Given the description of an element on the screen output the (x, y) to click on. 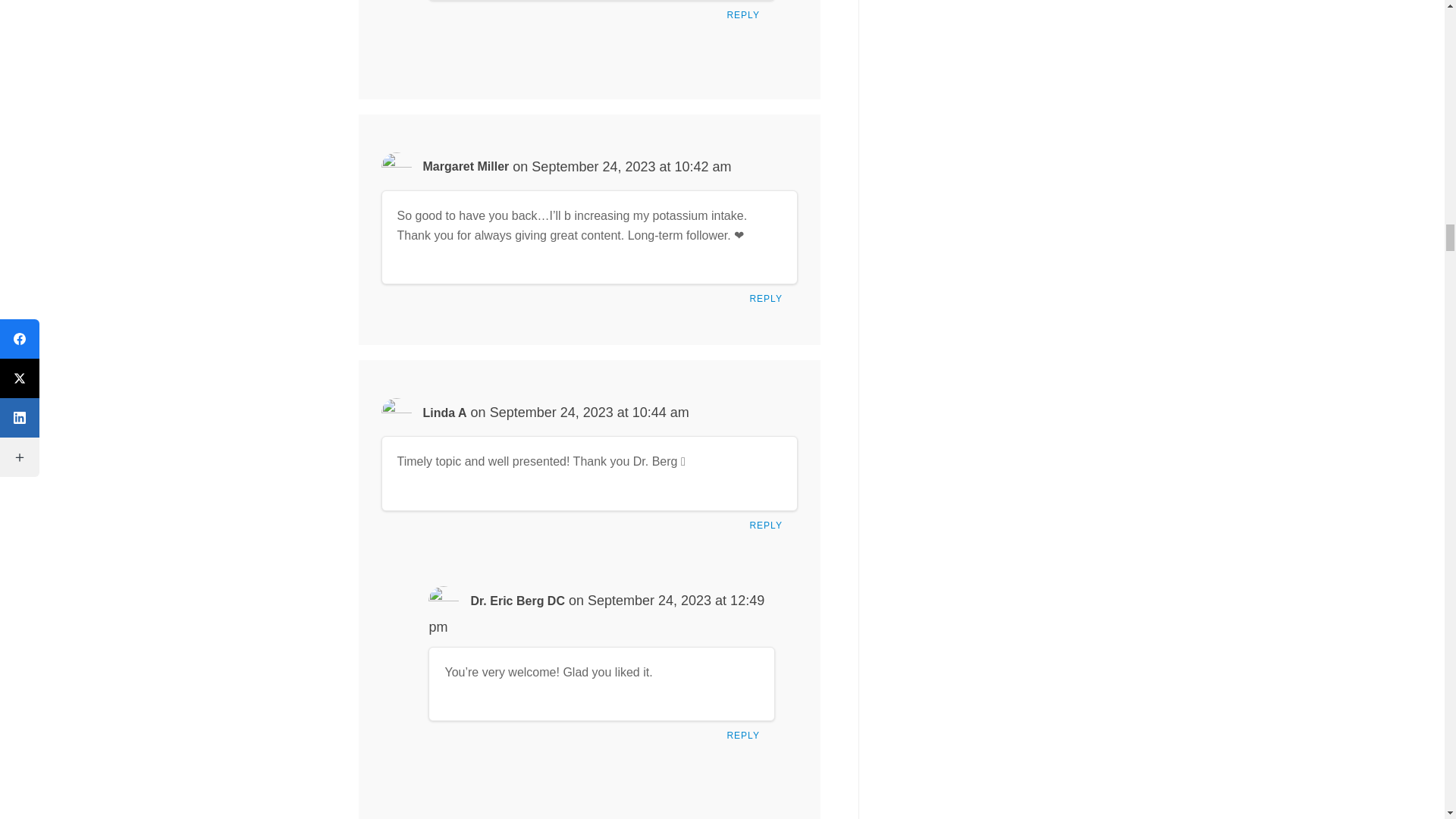
REPLY (746, 738)
REPLY (769, 302)
REPLY (769, 529)
REPLY (746, 19)
